Given the description of an element on the screen output the (x, y) to click on. 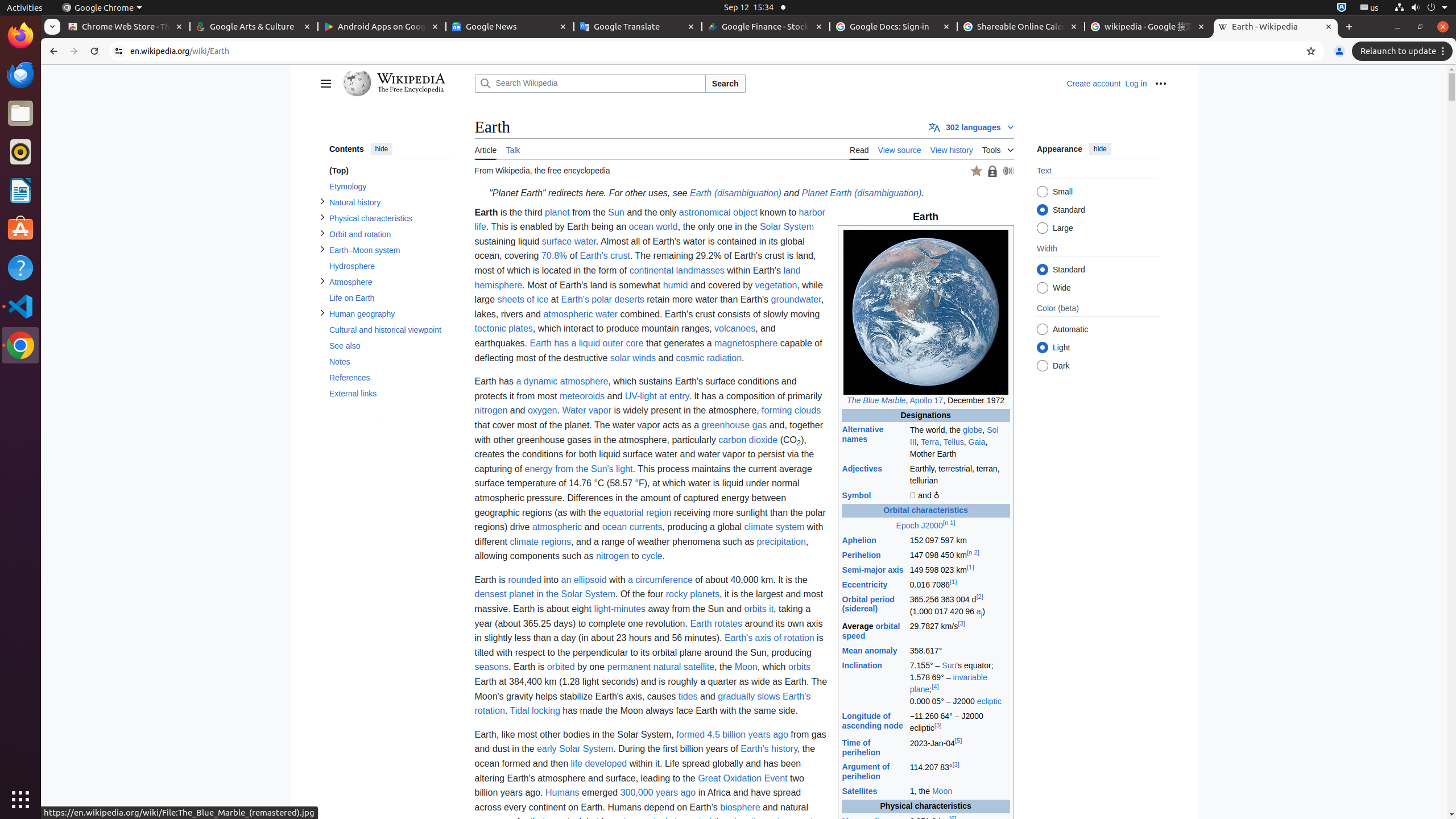
365.256363004 d[2] (1.00001742096 aj) Element type: table-cell (959, 605)
−11.26064° – J2000 ecliptic[3] Element type: table-cell (959, 722)
Earth's polar Element type: link (585, 299)
Earth has a liquid outer core Element type: link (586, 342)
Toggle Physical characteristics subsection Element type: push-button (321, 217)
